Given the description of an element on the screen output the (x, y) to click on. 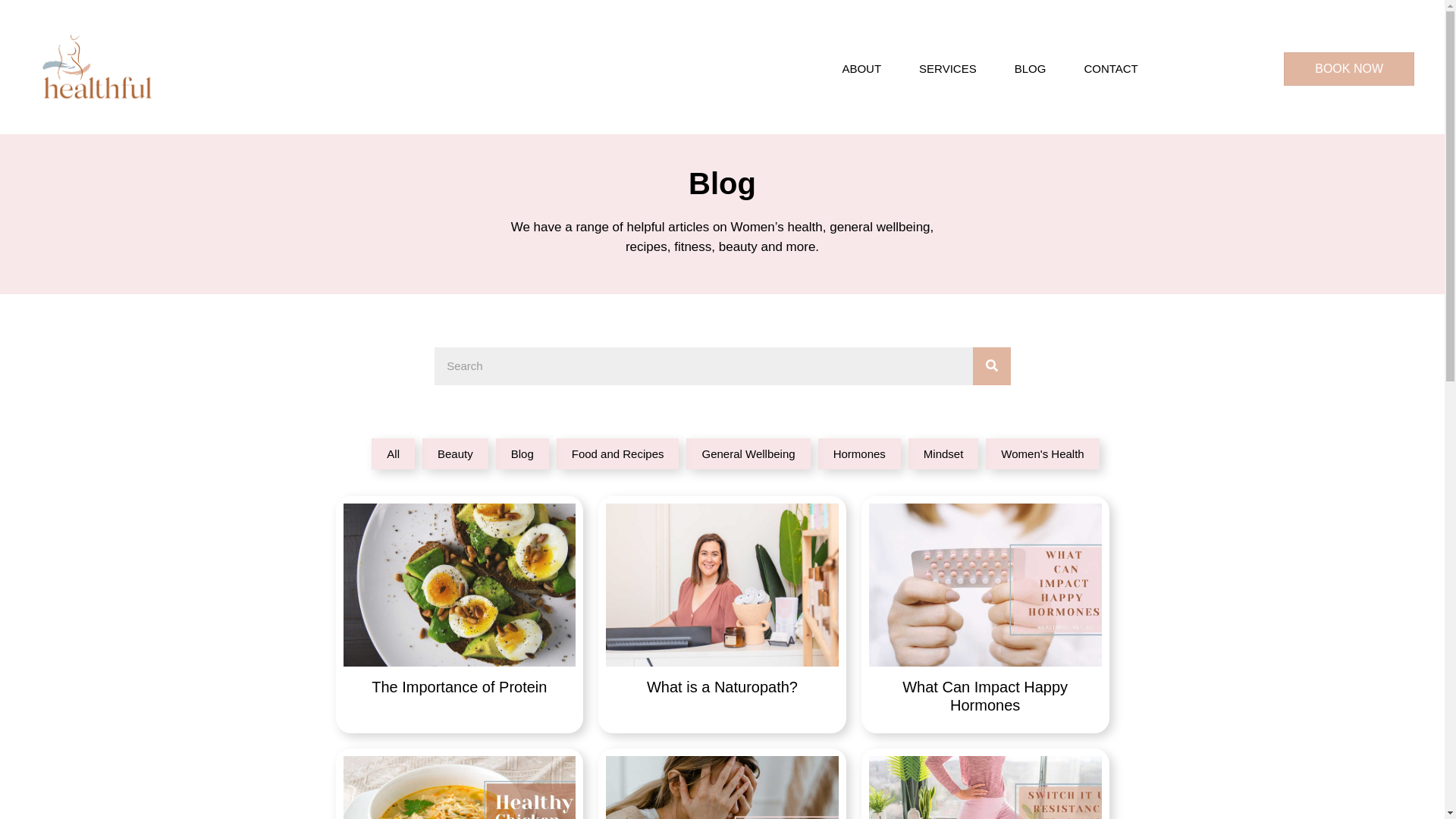
What Can Impact Happy Hormones Element type: hover (985, 614)
SERVICES Element type: text (947, 68)
ABOUT Element type: text (861, 68)
the-importance-of-protein-healthful-wellness Element type: hover (458, 584)
healthful-wellness-jac-naturopathy Element type: hover (721, 584)
What is a Naturopath? Element type: hover (722, 614)
BLOG Element type: text (1030, 68)
The Importance of Protein Element type: hover (459, 614)
healthful-wellness-logo-main Element type: hover (96, 68)
Search Element type: hover (702, 366)
CONTACT Element type: text (1110, 68)
BOOK NOW Element type: text (1348, 68)
what-can-impact-happy-hormones-healthful-wellness Element type: hover (985, 584)
